Given the description of an element on the screen output the (x, y) to click on. 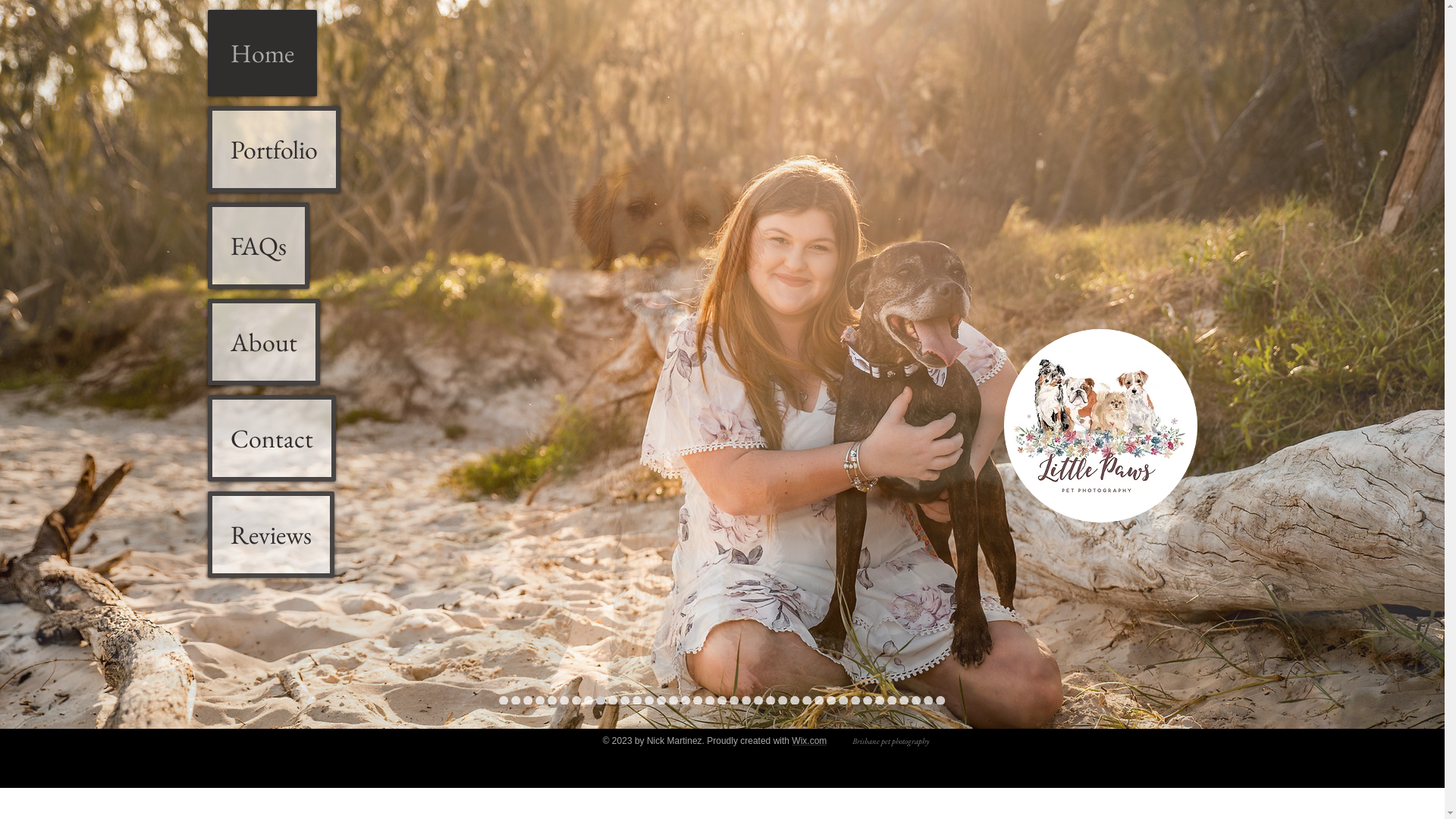
Reviews Element type: text (270, 534)
FAQs Element type: text (258, 245)
Home Element type: text (262, 52)
Contact Element type: text (271, 437)
Wix.com Element type: text (808, 740)
About Element type: text (263, 341)
Portfolio Element type: text (273, 149)
